Given the description of an element on the screen output the (x, y) to click on. 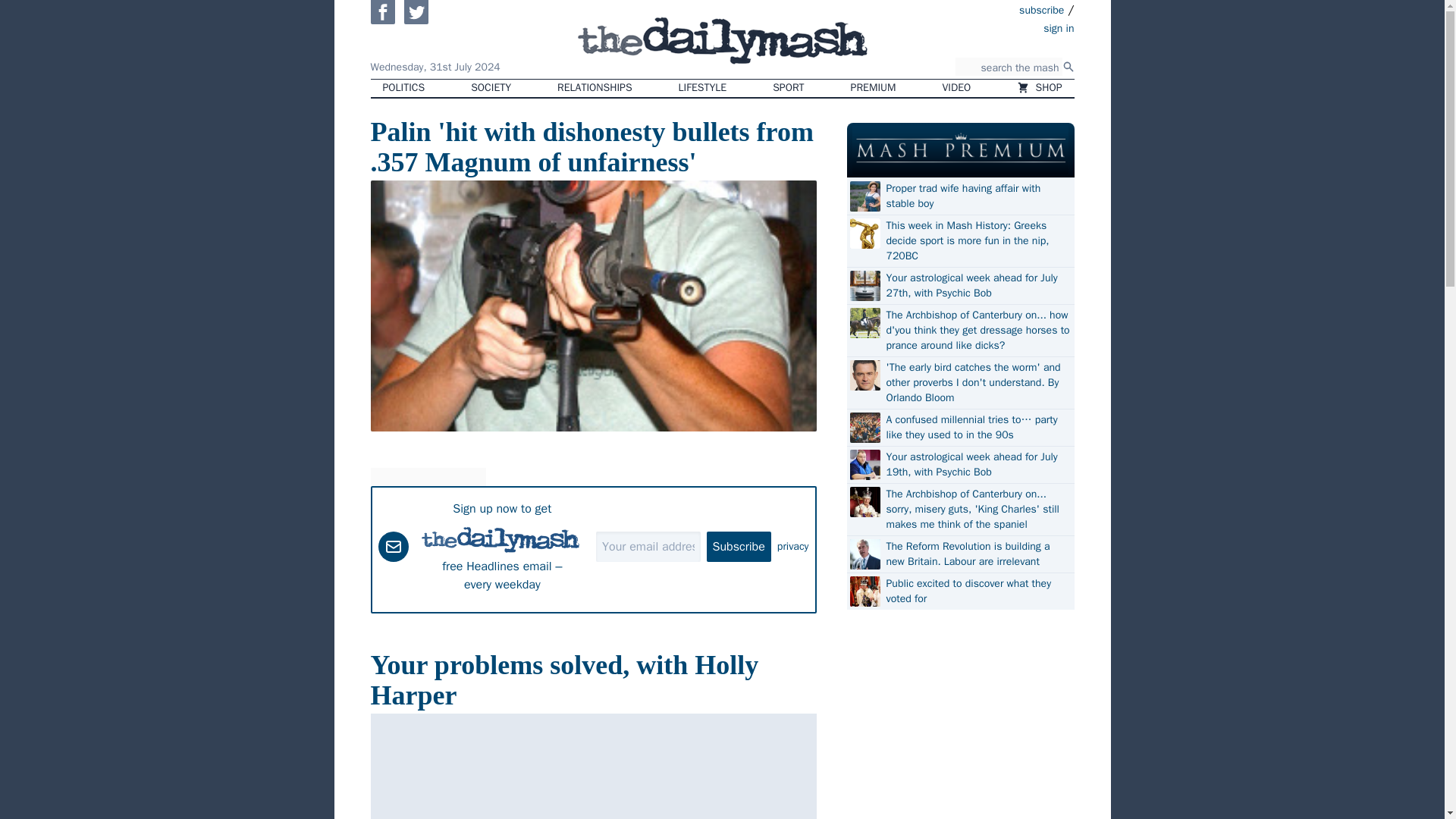
Proper trad wife having affair with stable boy (977, 195)
Your astrological week ahead for July 27th, with Psychic Bob (977, 286)
privacy (793, 545)
SHOP (1039, 88)
SPORT (787, 88)
sign in (970, 27)
RELATIONSHIPS (593, 88)
LIFESTYLE (702, 88)
POLITICS (402, 88)
Subscribe (738, 545)
VIDEO (957, 88)
